Given the description of an element on the screen output the (x, y) to click on. 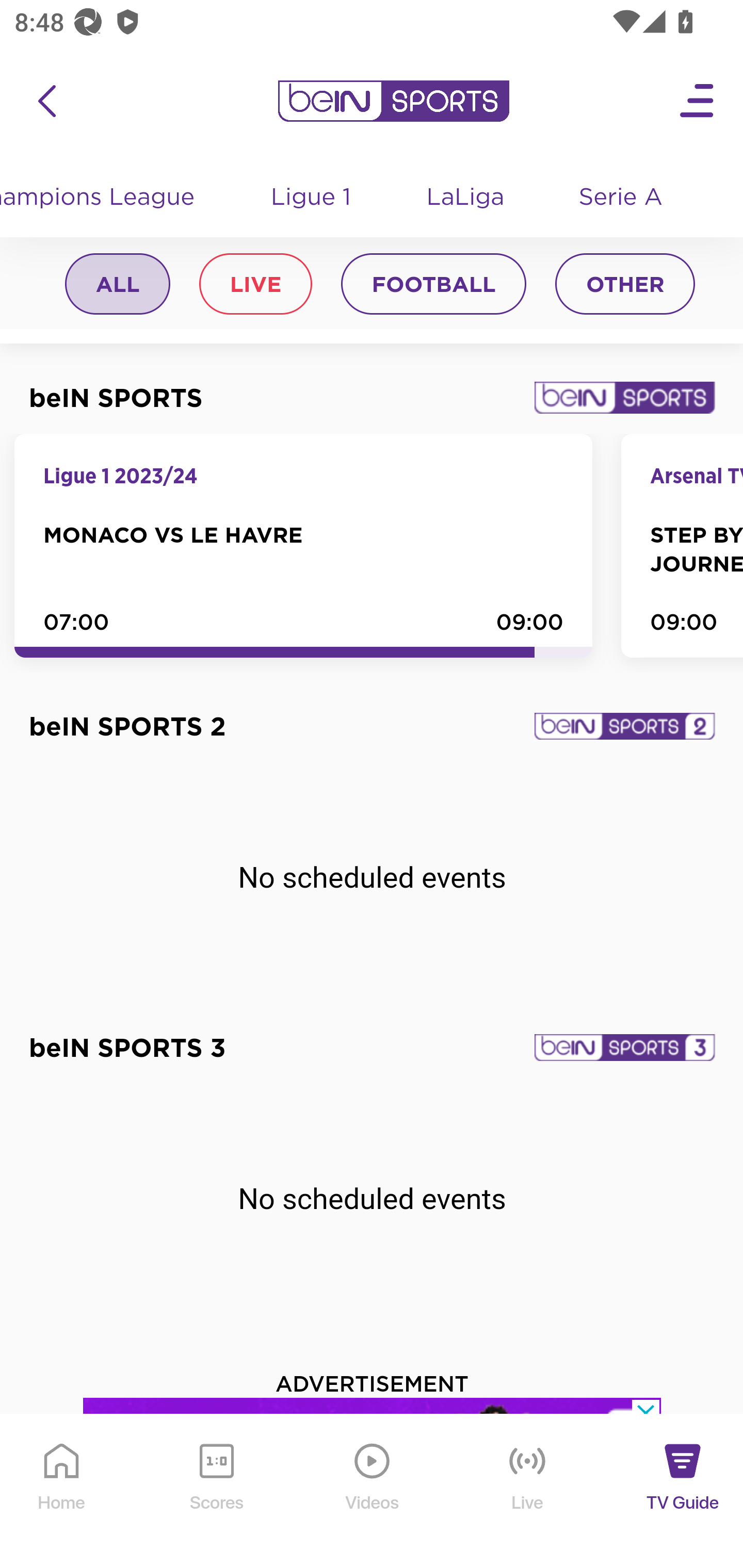
en-my?platform=mobile_android bein logo (392, 101)
icon back (46, 101)
Open Menu Icon (697, 101)
UEFA Champions League (107, 198)
UEFA Champions League (107, 198)
Ligue 1 (312, 198)
Ligue 1 (312, 198)
LaLiga (466, 198)
LaLiga (466, 198)
Serie A (621, 198)
Serie A (621, 198)
ALL (118, 286)
LIVE (255, 286)
FOOTBALL (433, 286)
OTHER (625, 286)
Home Home Icon Home (61, 1491)
Scores Scores Icon Scores (216, 1491)
Videos Videos Icon Videos (372, 1491)
TV Guide TV Guide Icon TV Guide (682, 1491)
